Given the description of an element on the screen output the (x, y) to click on. 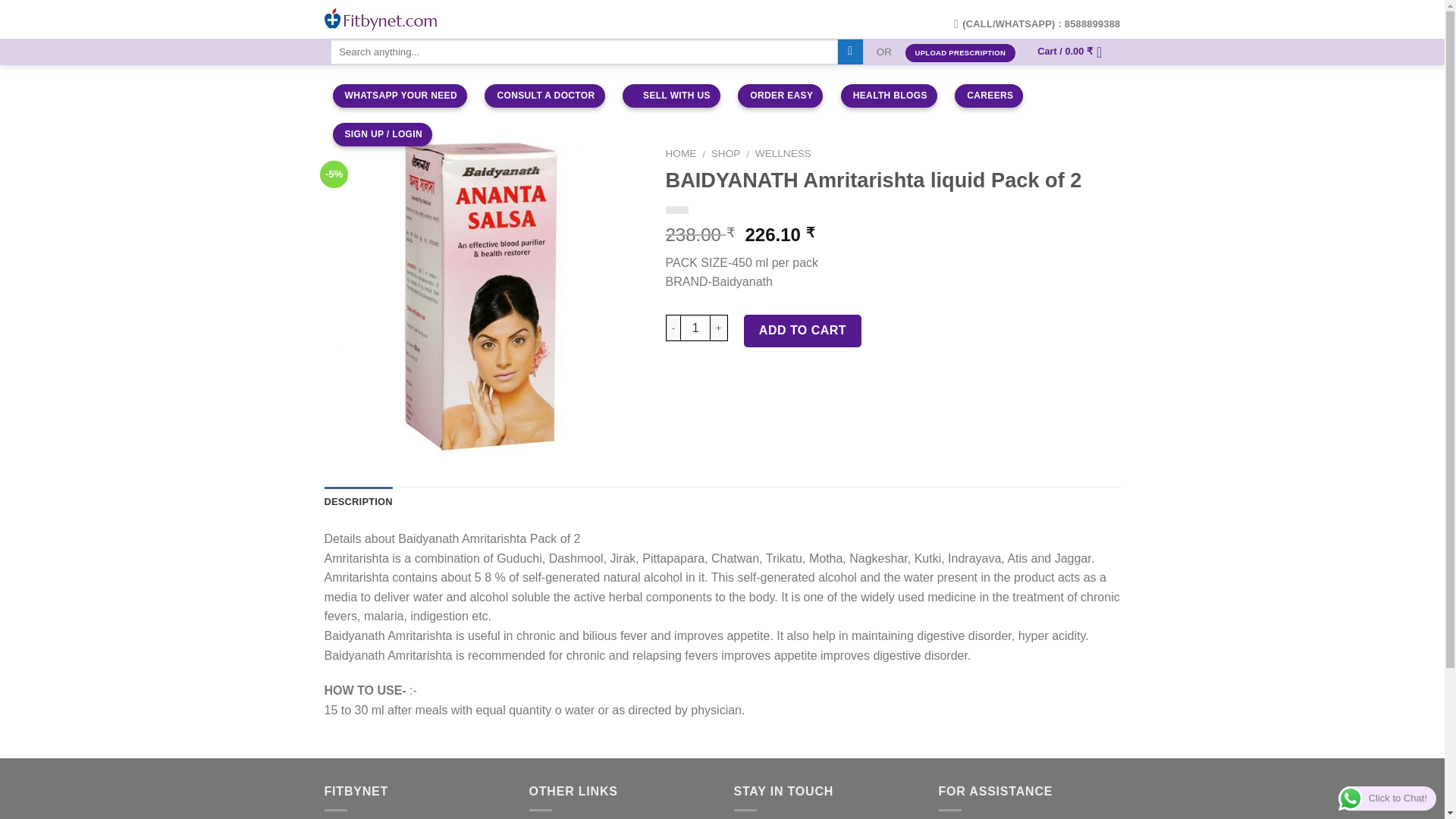
HOME (681, 153)
Ananta-Salsa-Baidyanath-1488348662-10031343 (483, 297)
1 (694, 327)
Consult a doctor (544, 95)
ADD TO CART (802, 330)
HEALTH BLOGS (889, 95)
Careers (989, 95)
SHOP (726, 153)
Health Blog (889, 95)
WELLNESS (782, 153)
